Given the description of an element on the screen output the (x, y) to click on. 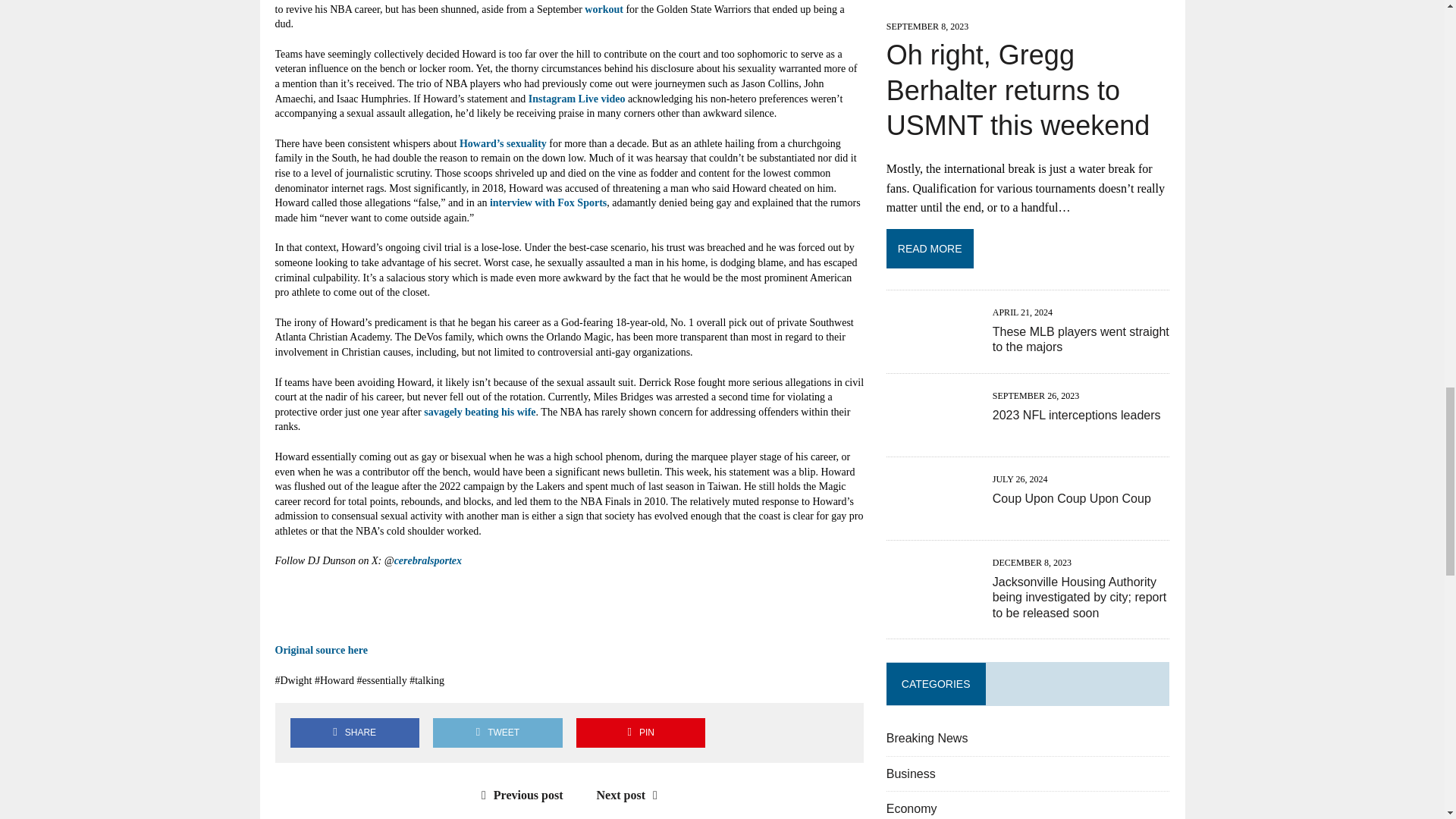
Share on Facebook (354, 732)
Tweet This Post (497, 732)
Pin This Post (640, 732)
